Given the description of an element on the screen output the (x, y) to click on. 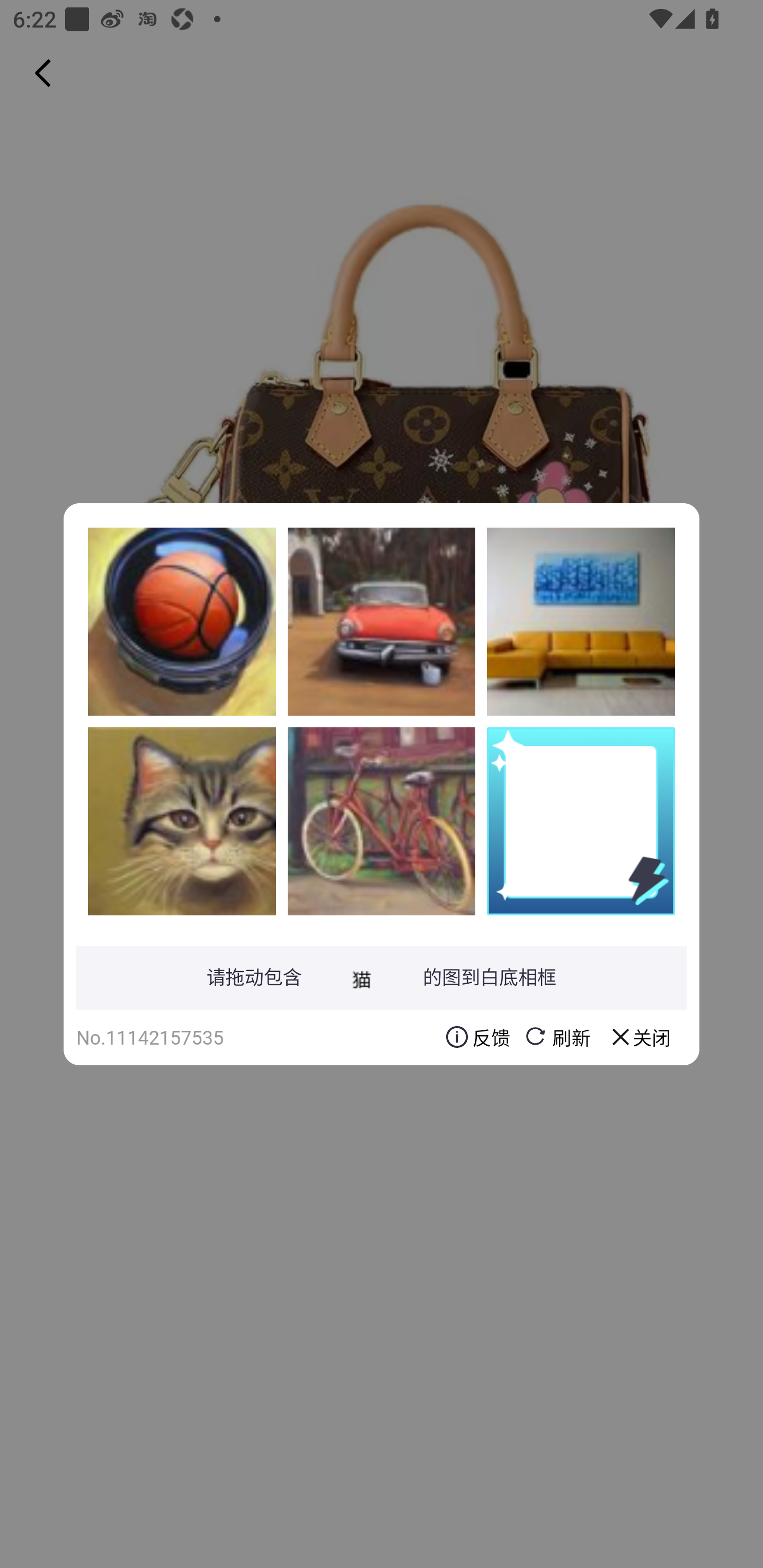
YM (580, 621)
1NdPo6PL (181, 820)
qfS2nx6glSE88y8RMl (381, 820)
